Given the description of an element on the screen output the (x, y) to click on. 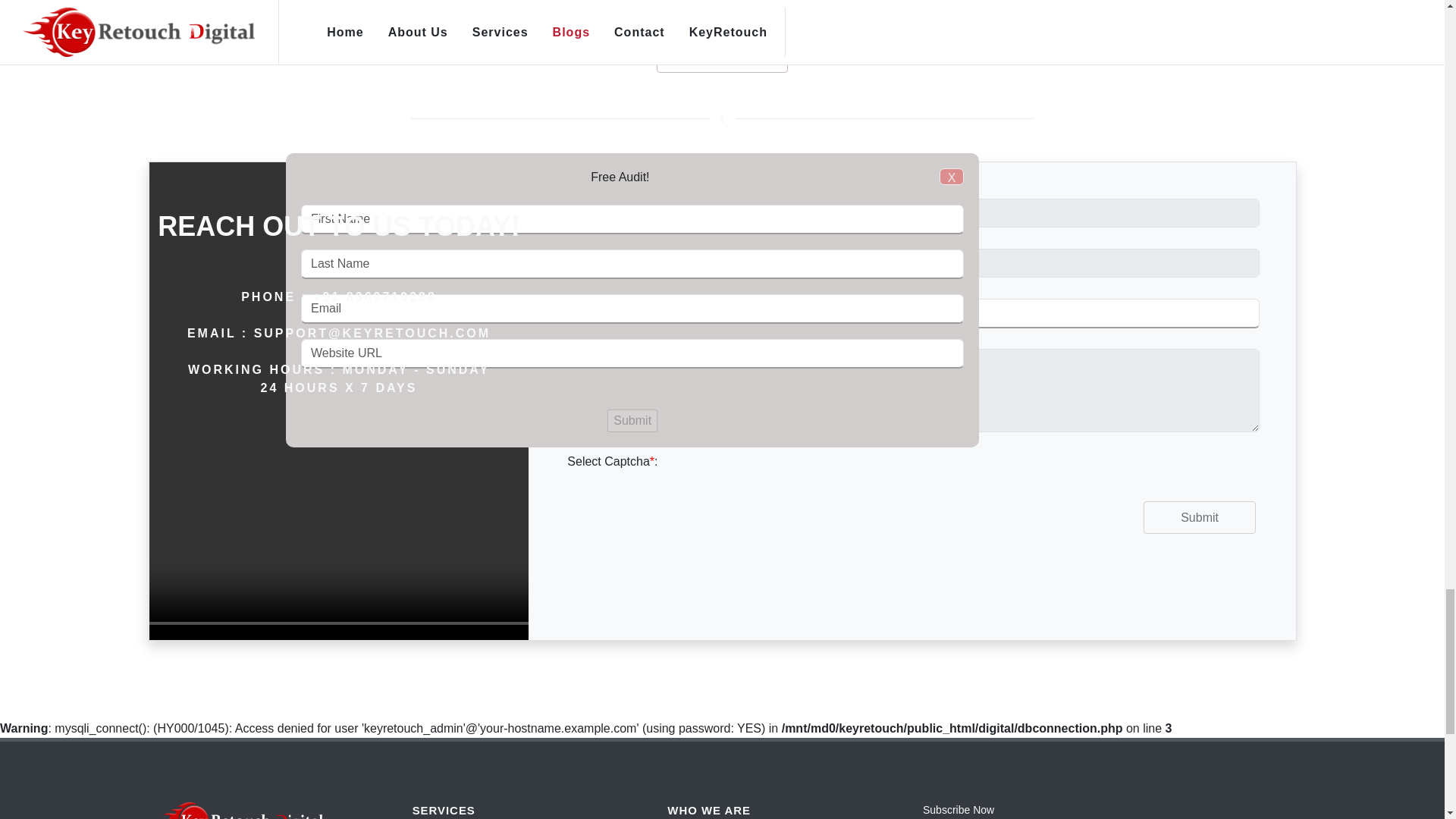
View More (721, 56)
Submit (1198, 517)
Submit (1198, 517)
